Given the description of an element on the screen output the (x, y) to click on. 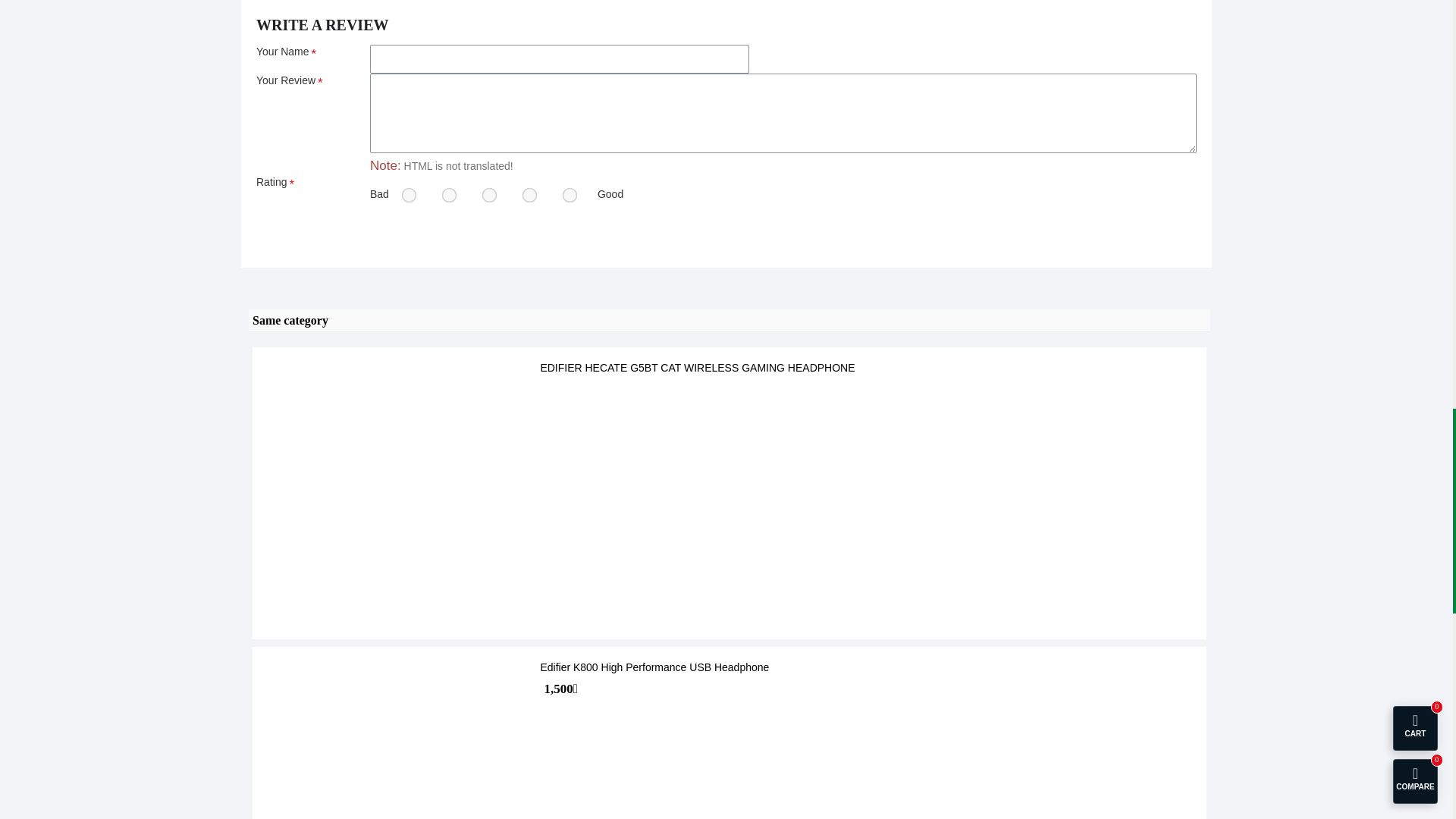
4 (527, 193)
2 (446, 193)
3 (486, 193)
5 (567, 193)
1 (406, 193)
